Given the description of an element on the screen output the (x, y) to click on. 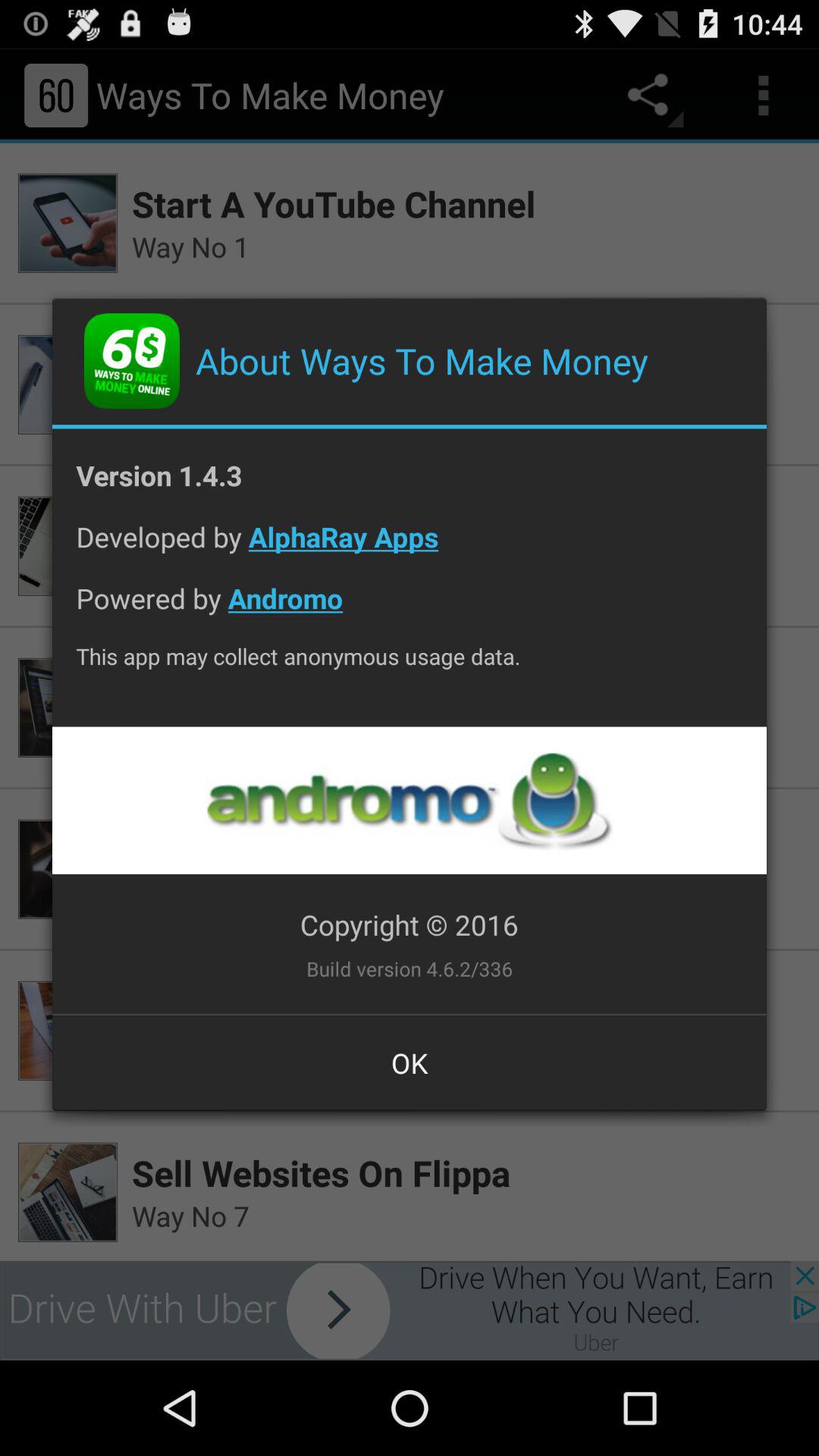
advertisement page (408, 800)
